Given the description of an element on the screen output the (x, y) to click on. 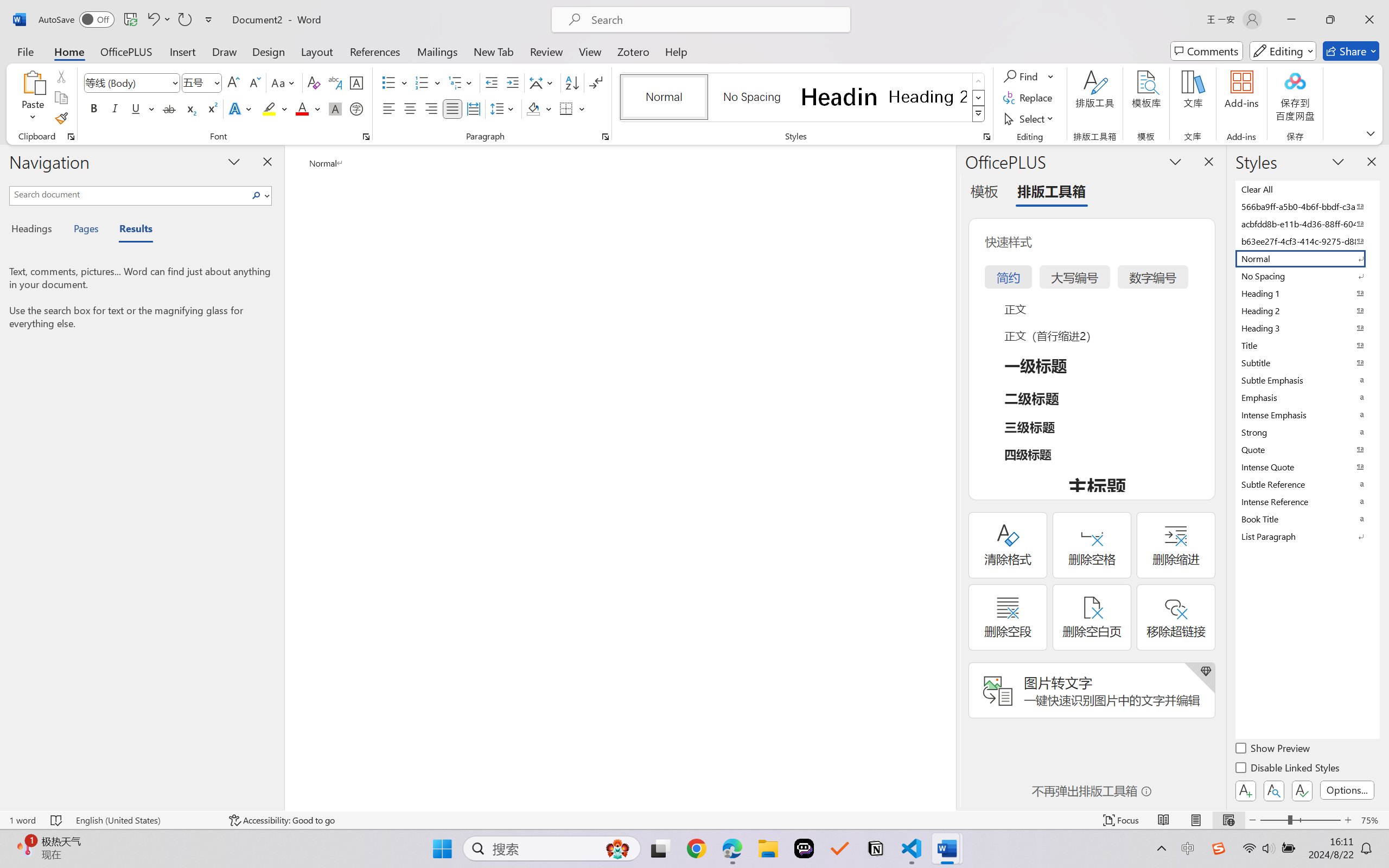
Focus  (1121, 819)
Disable Linked Styles (1287, 769)
Subtle Reference (1306, 484)
Multilevel List (461, 82)
Paragraph... (605, 136)
Layout (316, 51)
Review (546, 51)
Subtle Emphasis (1306, 379)
Intense Emphasis (1306, 414)
acbfdd8b-e11b-4d36-88ff-6049b138f862 (1306, 223)
Enclose Characters... (356, 108)
Insert (182, 51)
